Given the description of an element on the screen output the (x, y) to click on. 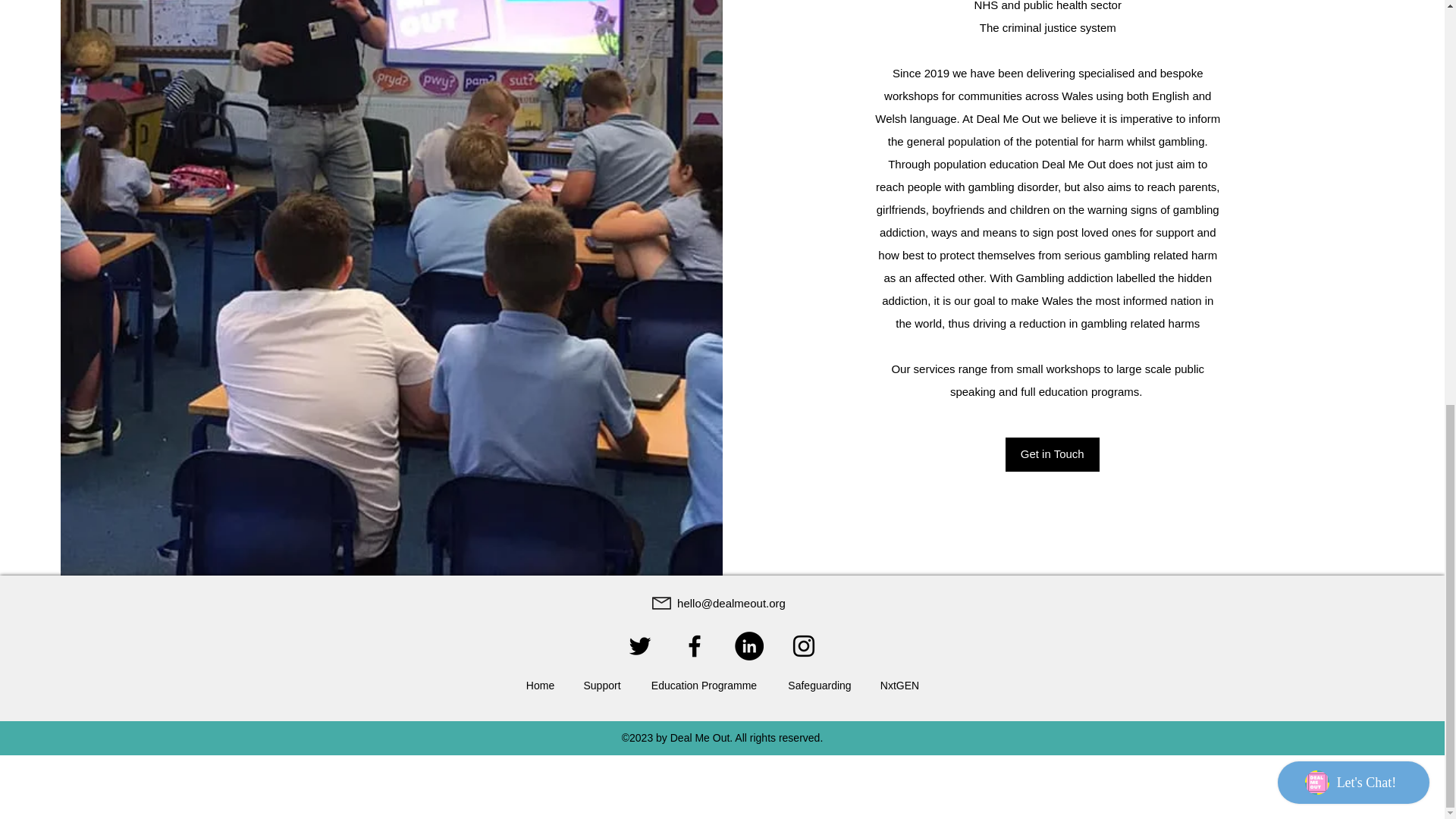
NxtGEN (899, 685)
Safeguarding (819, 685)
Support (601, 685)
Get in Touch (1052, 454)
Home (540, 685)
Education Programme (703, 685)
